Given the description of an element on the screen output the (x, y) to click on. 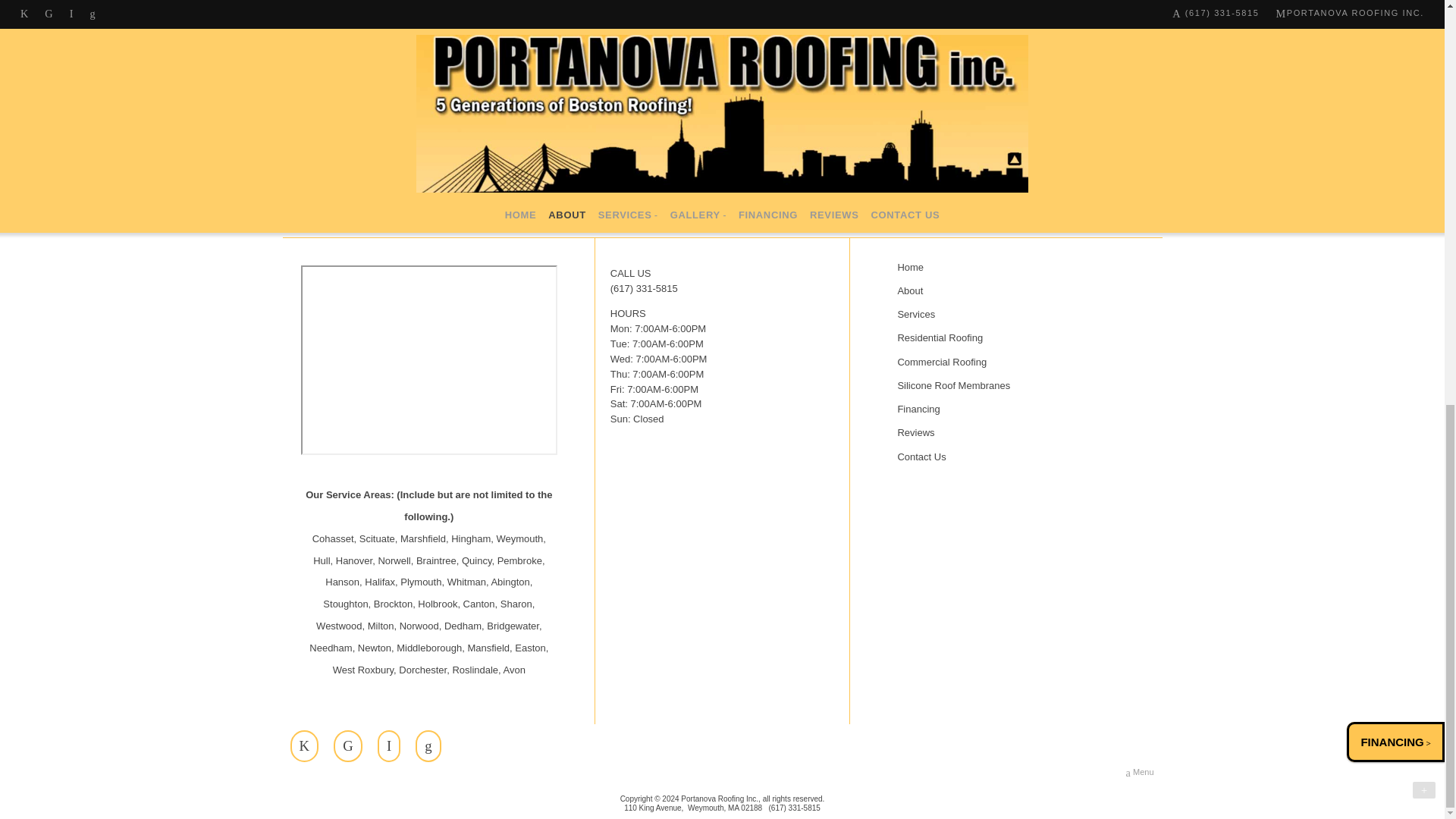
Services (1014, 314)
Reviews (1014, 433)
Twitter (347, 746)
About (1014, 291)
Facebook (303, 746)
Silicone Roof Membranes (1014, 385)
Financing (1014, 409)
Open Menu (1139, 772)
Commercial Roofing (1014, 362)
Contact Us (1014, 456)
